Given the description of an element on the screen output the (x, y) to click on. 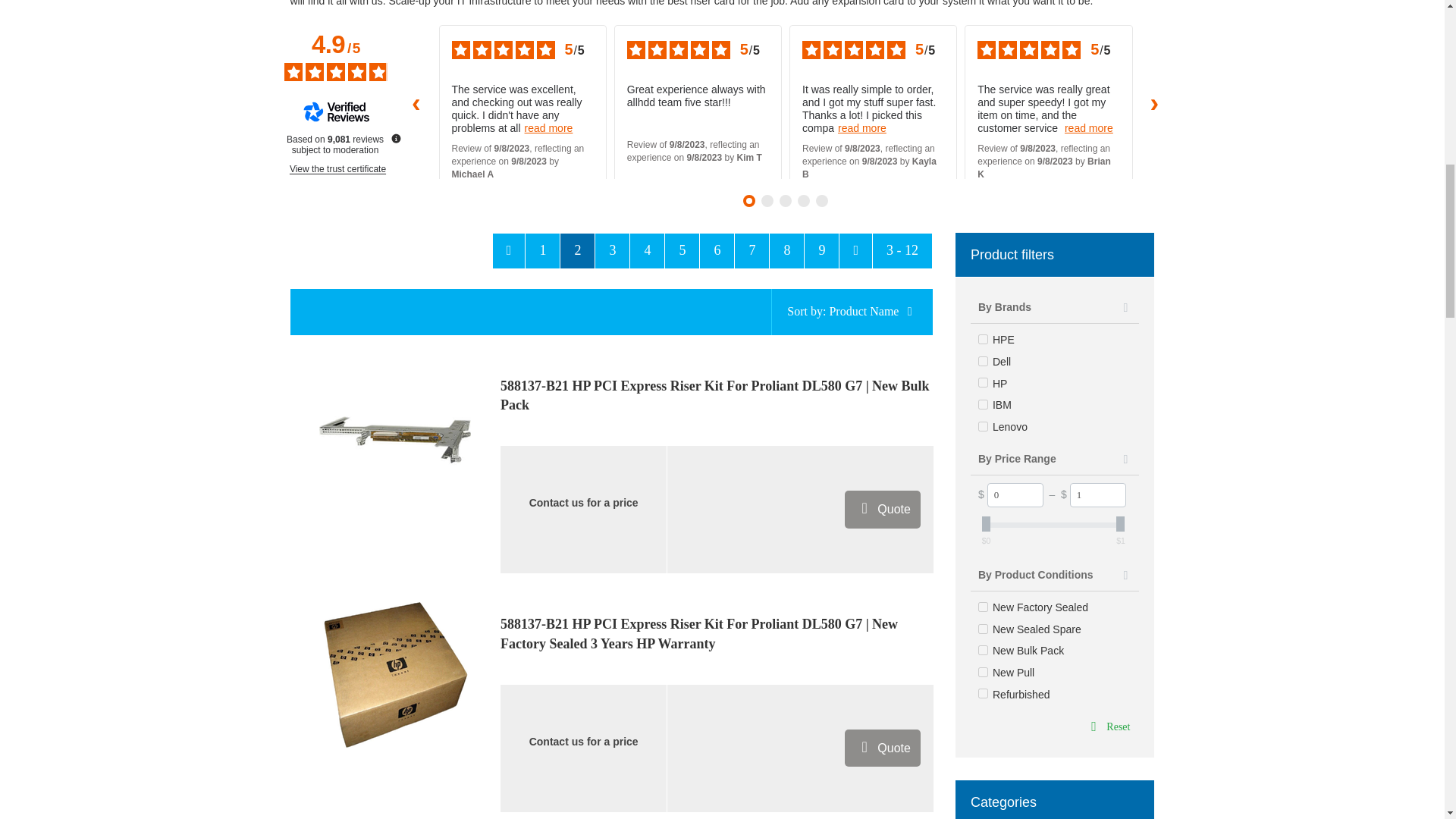
5 (983, 361)
HP 588137-B21 Riser Card (394, 439)
201 (983, 672)
198 (983, 650)
1 (1097, 494)
196 (983, 628)
0 (1015, 494)
203 (983, 693)
258 (983, 606)
1 (983, 382)
